Given the description of an element on the screen output the (x, y) to click on. 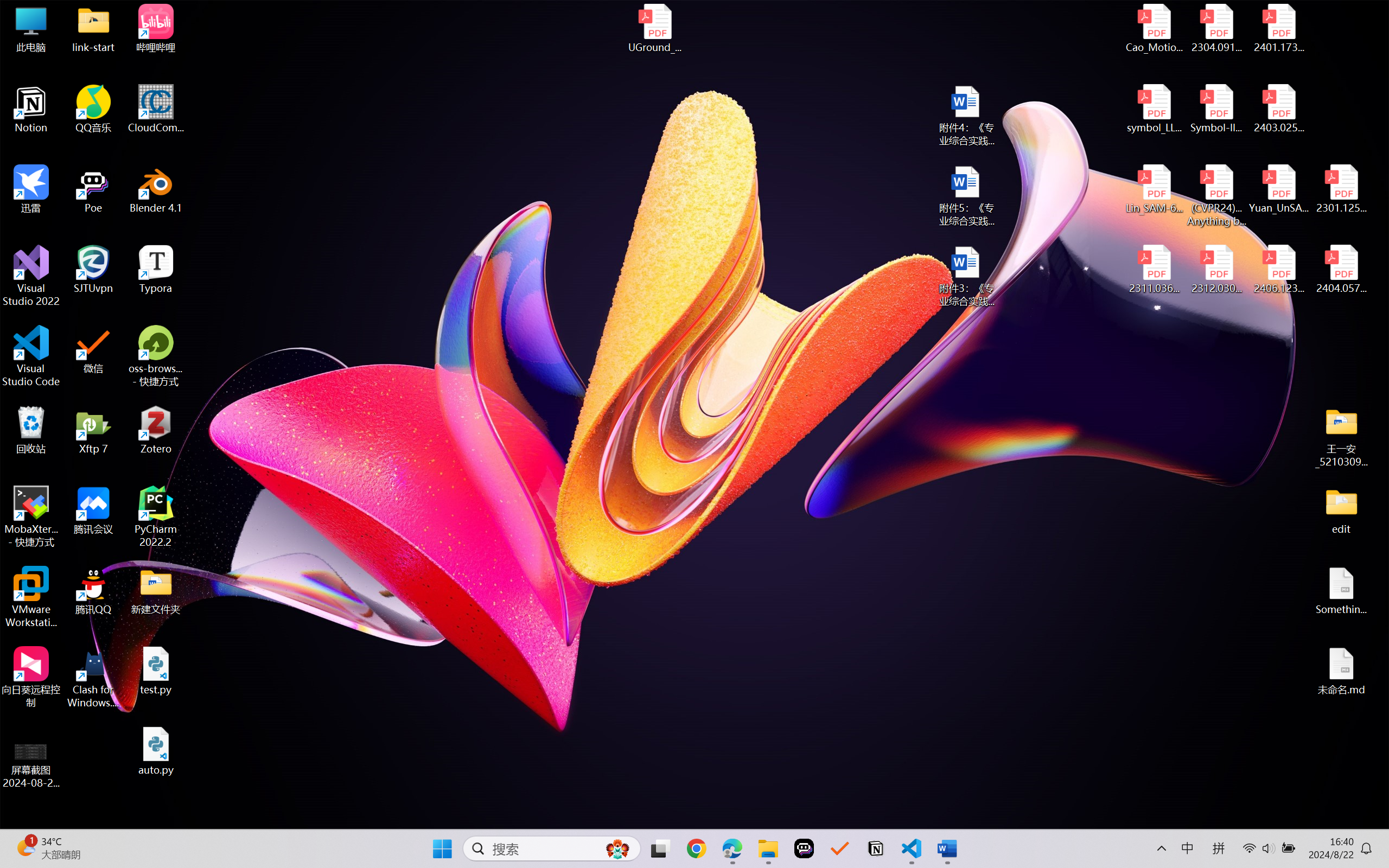
UGround_paper.pdf (654, 28)
2403.02502v1.pdf (1278, 109)
symbol_LLM.pdf (1154, 109)
Typora (156, 269)
VMware Workstation Pro (31, 597)
